Given the description of an element on the screen output the (x, y) to click on. 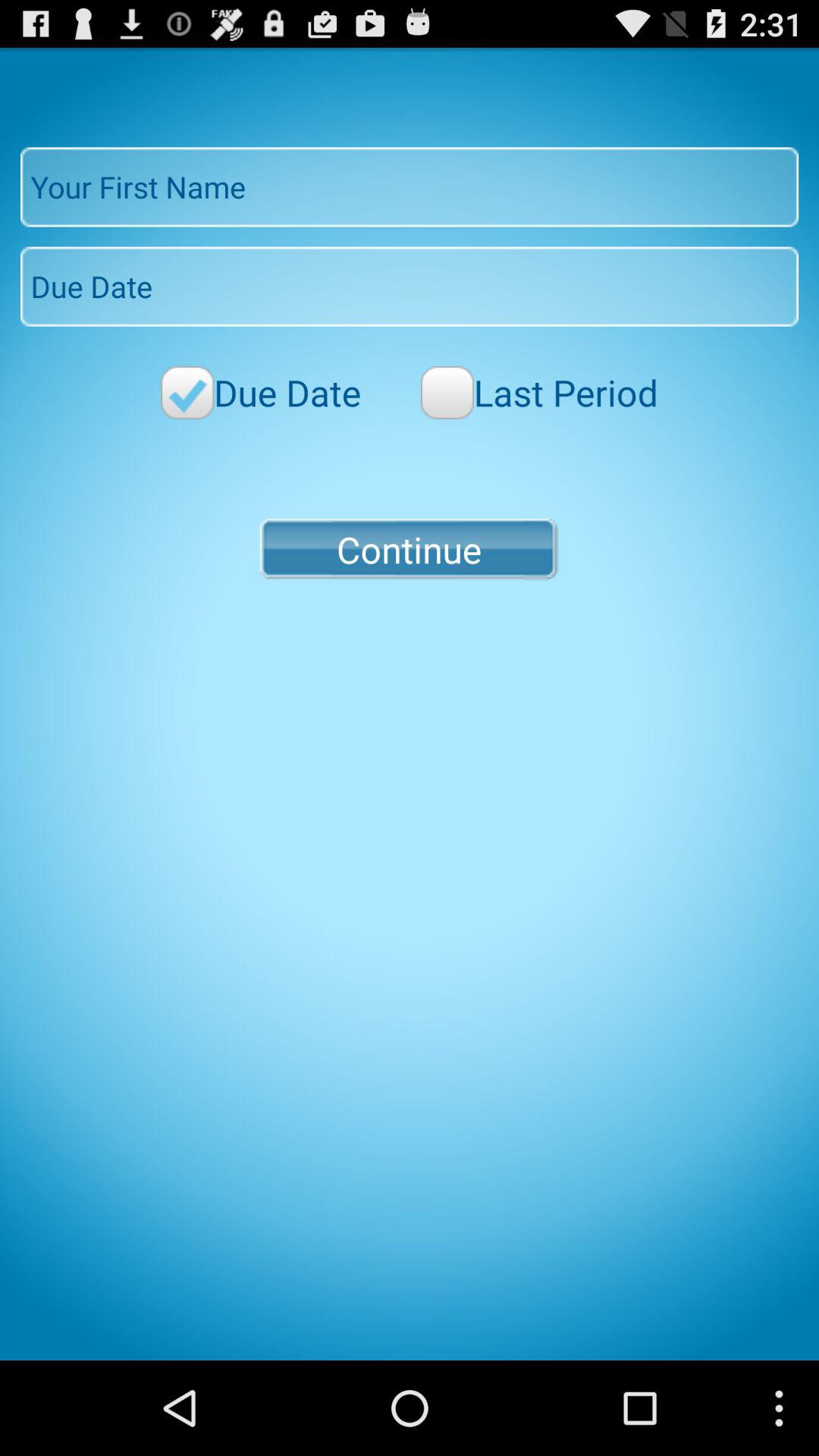
open continue button (408, 549)
